Given the description of an element on the screen output the (x, y) to click on. 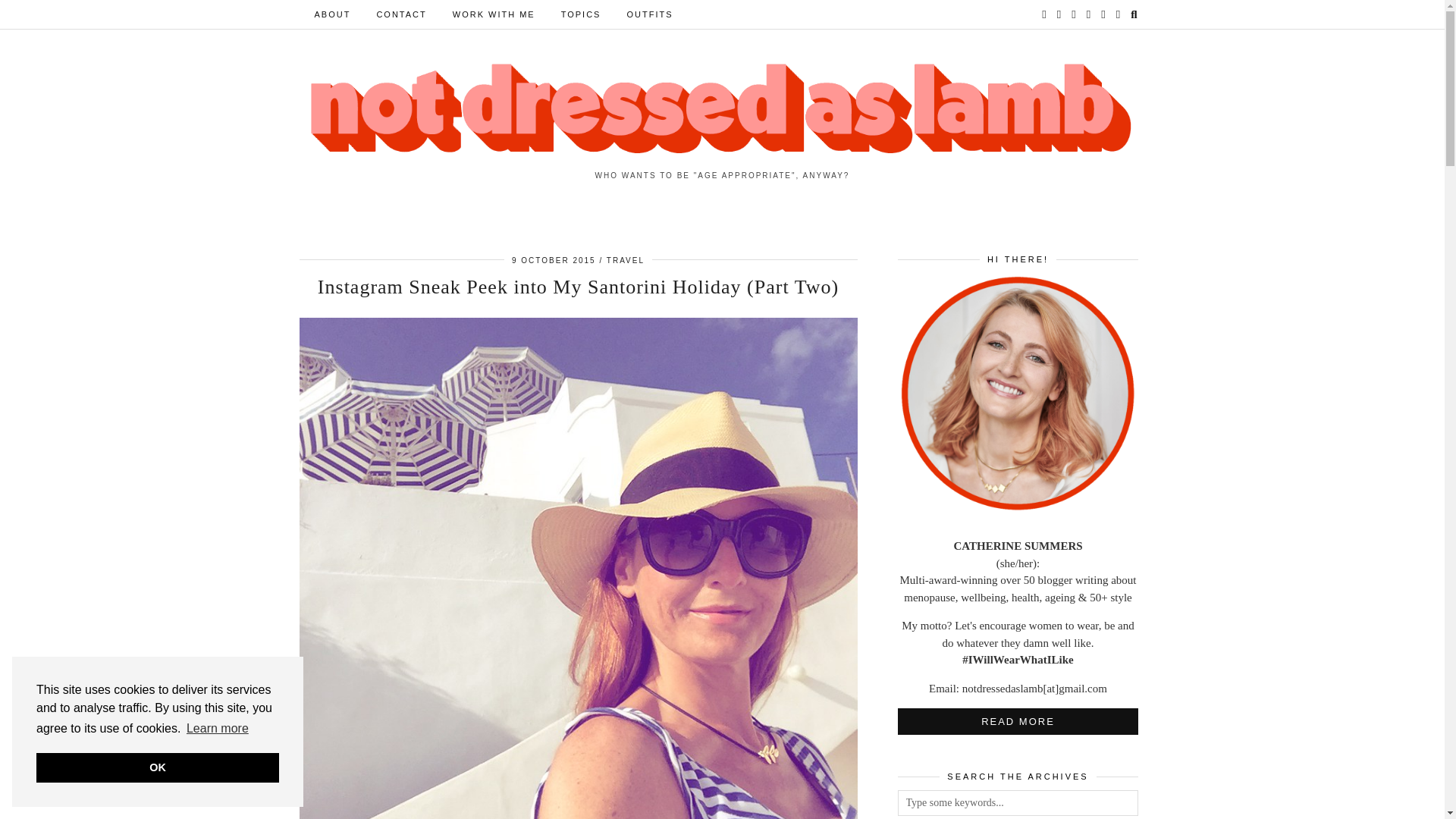
OK (157, 767)
Learn more (217, 728)
Not Dressed As Lamb (721, 108)
